Given the description of an element on the screen output the (x, y) to click on. 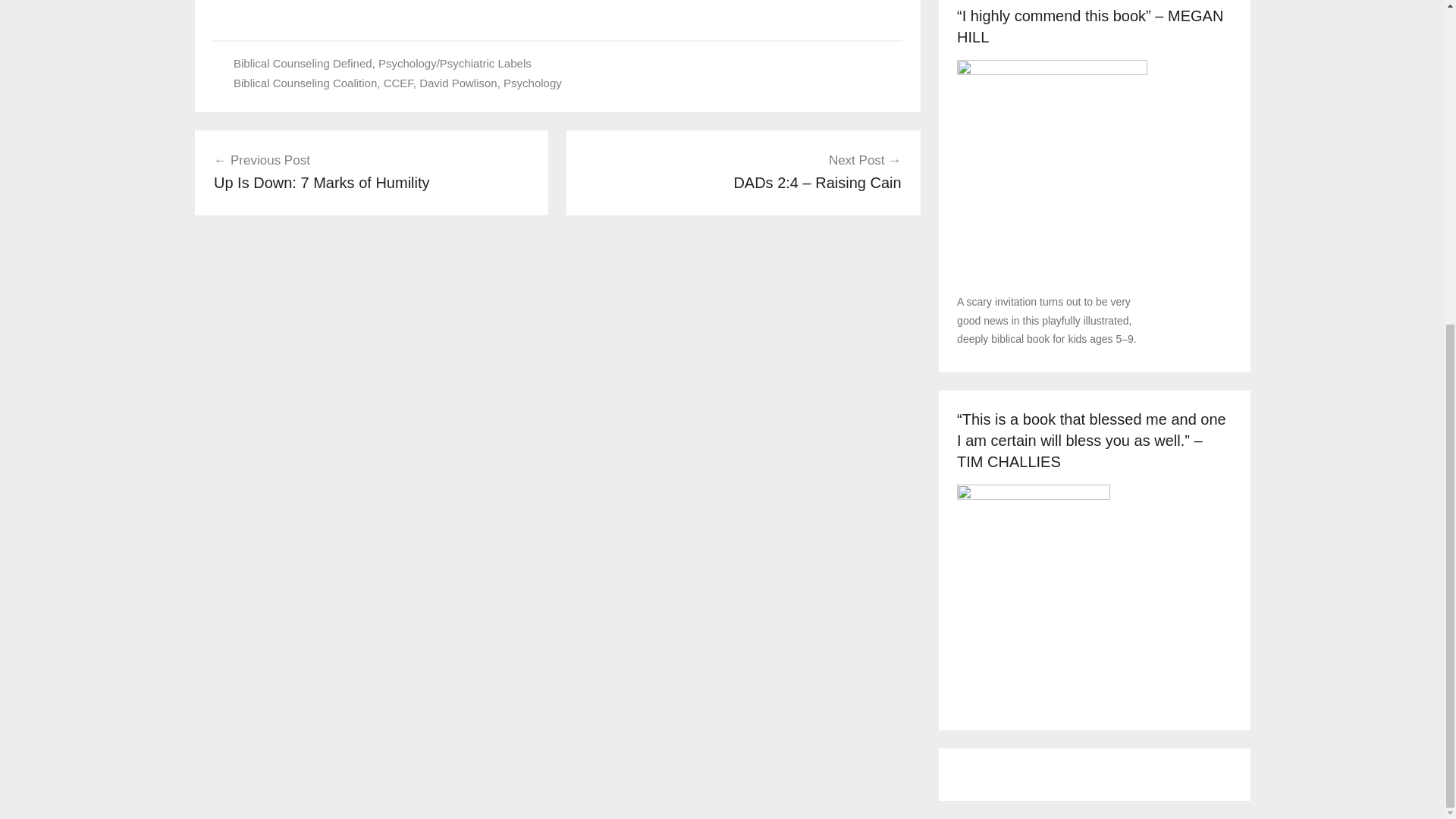
Biblical Counseling Defined (302, 62)
Biblical Counseling Coalition (304, 82)
Psychology (532, 82)
David Powlison (458, 82)
CCEF (398, 82)
